Given the description of an element on the screen output the (x, y) to click on. 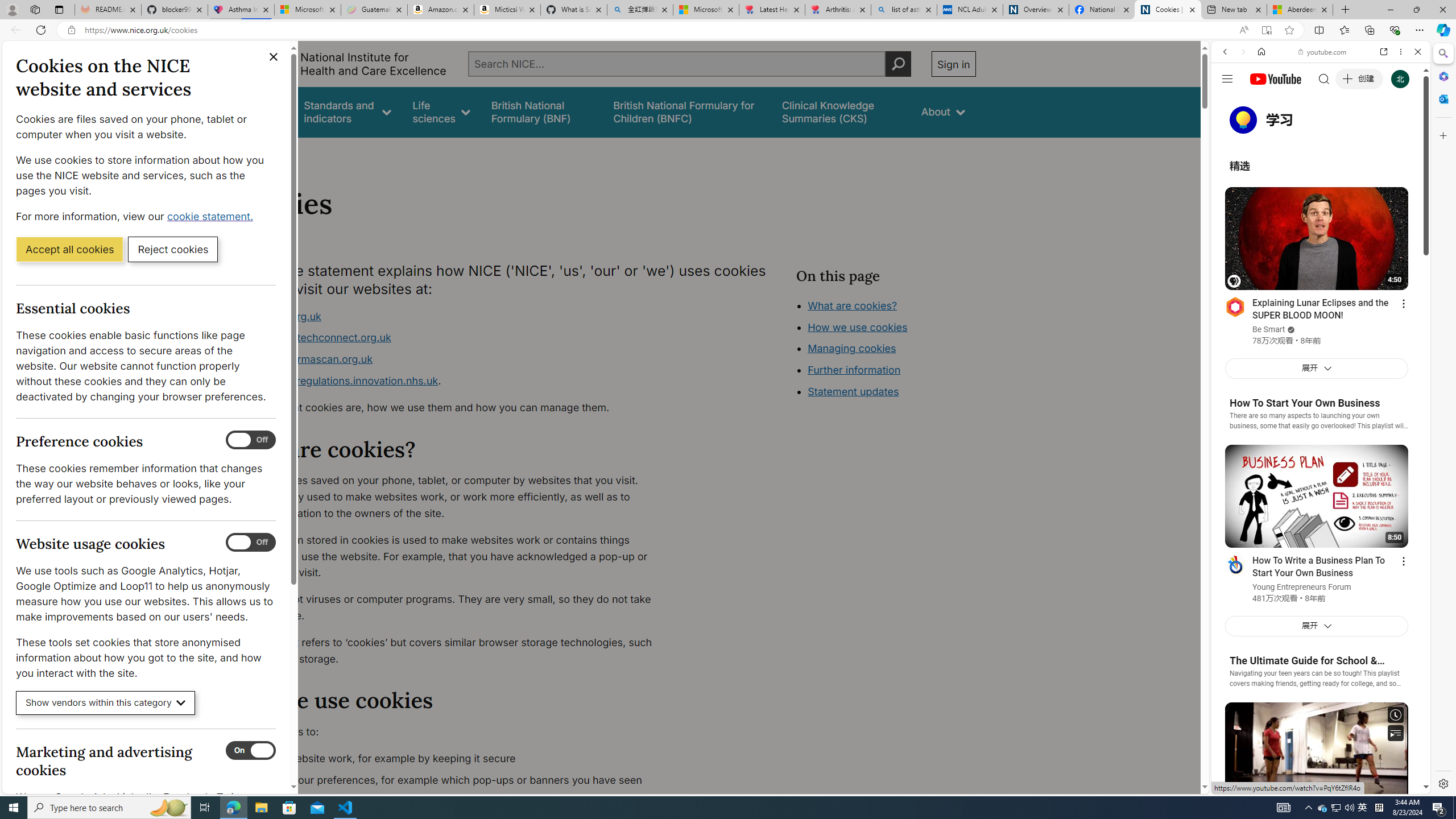
www.ukpharmascan.org.uk (305, 359)
Click to scroll right (1407, 456)
US[ju] (1249, 785)
Trailer #2 [HD] (1320, 337)
The Ultimate Guide for School & Beyond! (1318, 661)
